Given the description of an element on the screen output the (x, y) to click on. 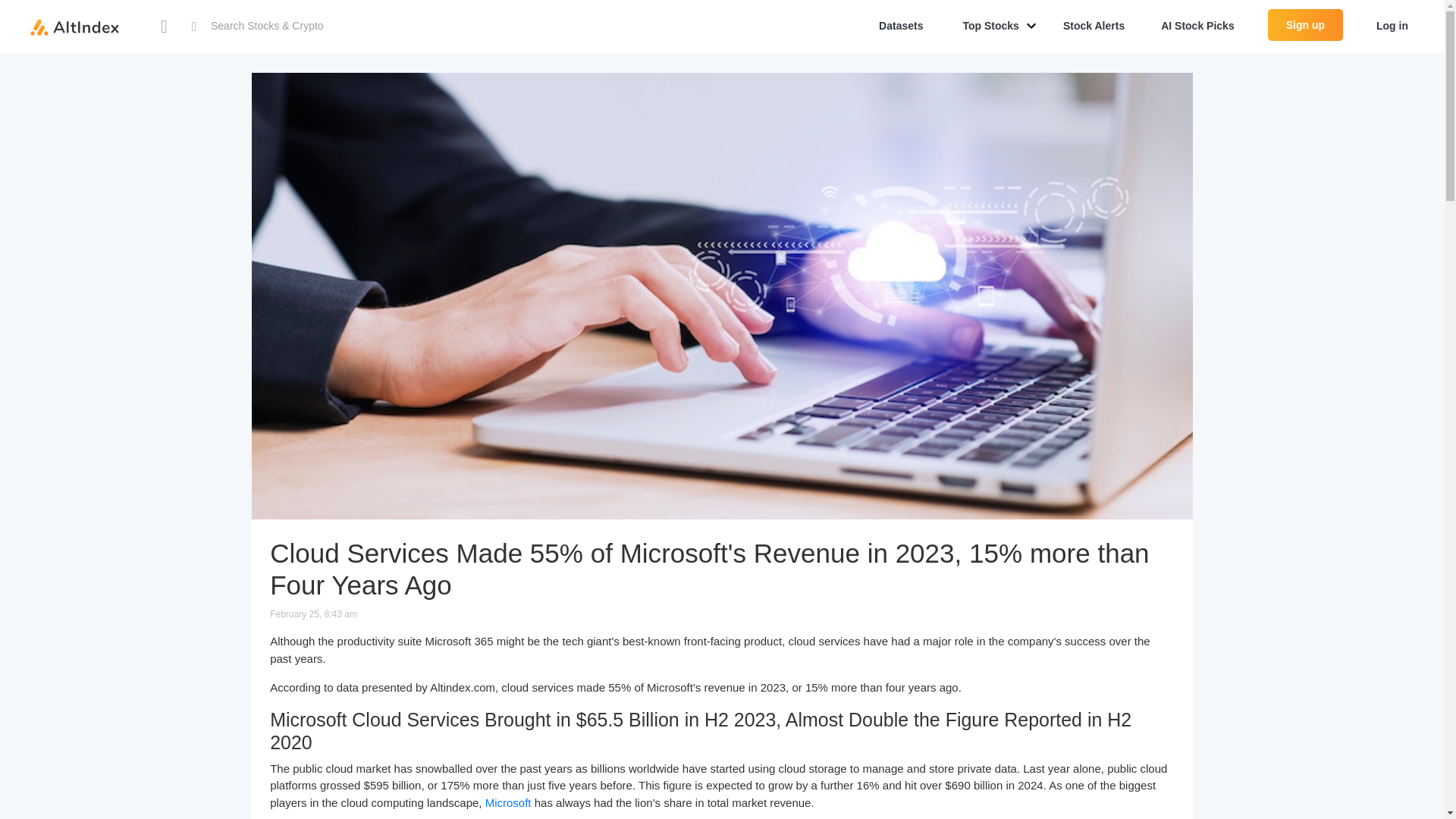
Sign up (1305, 24)
Top Stocks (993, 26)
Microsoft (507, 802)
Stock Alerts (1093, 26)
AI Stock Picks (1197, 26)
